Given the description of an element on the screen output the (x, y) to click on. 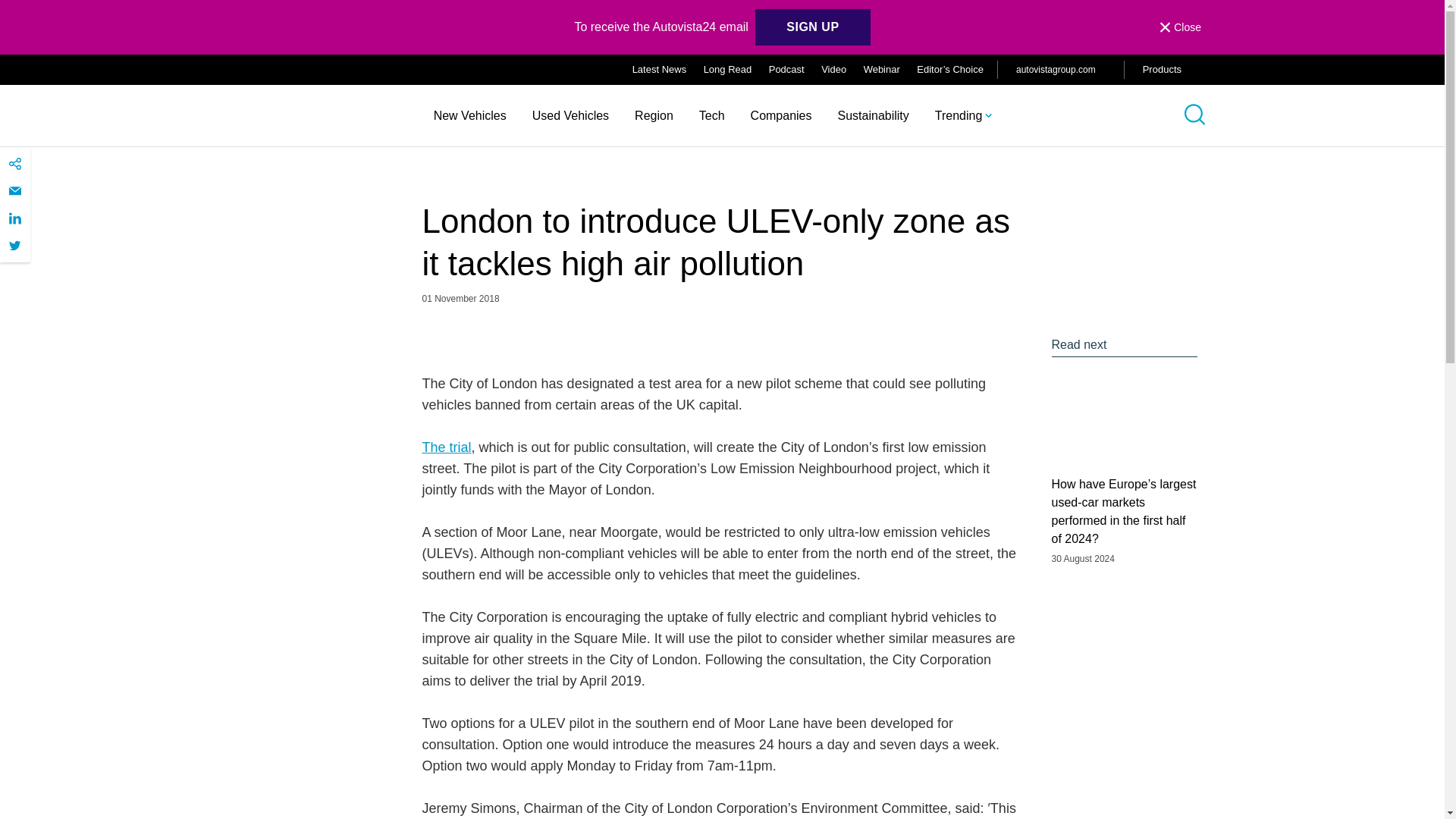
Latest News (659, 69)
Webinar (881, 69)
autovistagroup.com (1060, 69)
SIGN UP (812, 27)
Long Read (727, 69)
Video (833, 69)
Products (1173, 69)
Podcast (786, 69)
